Given the description of an element on the screen output the (x, y) to click on. 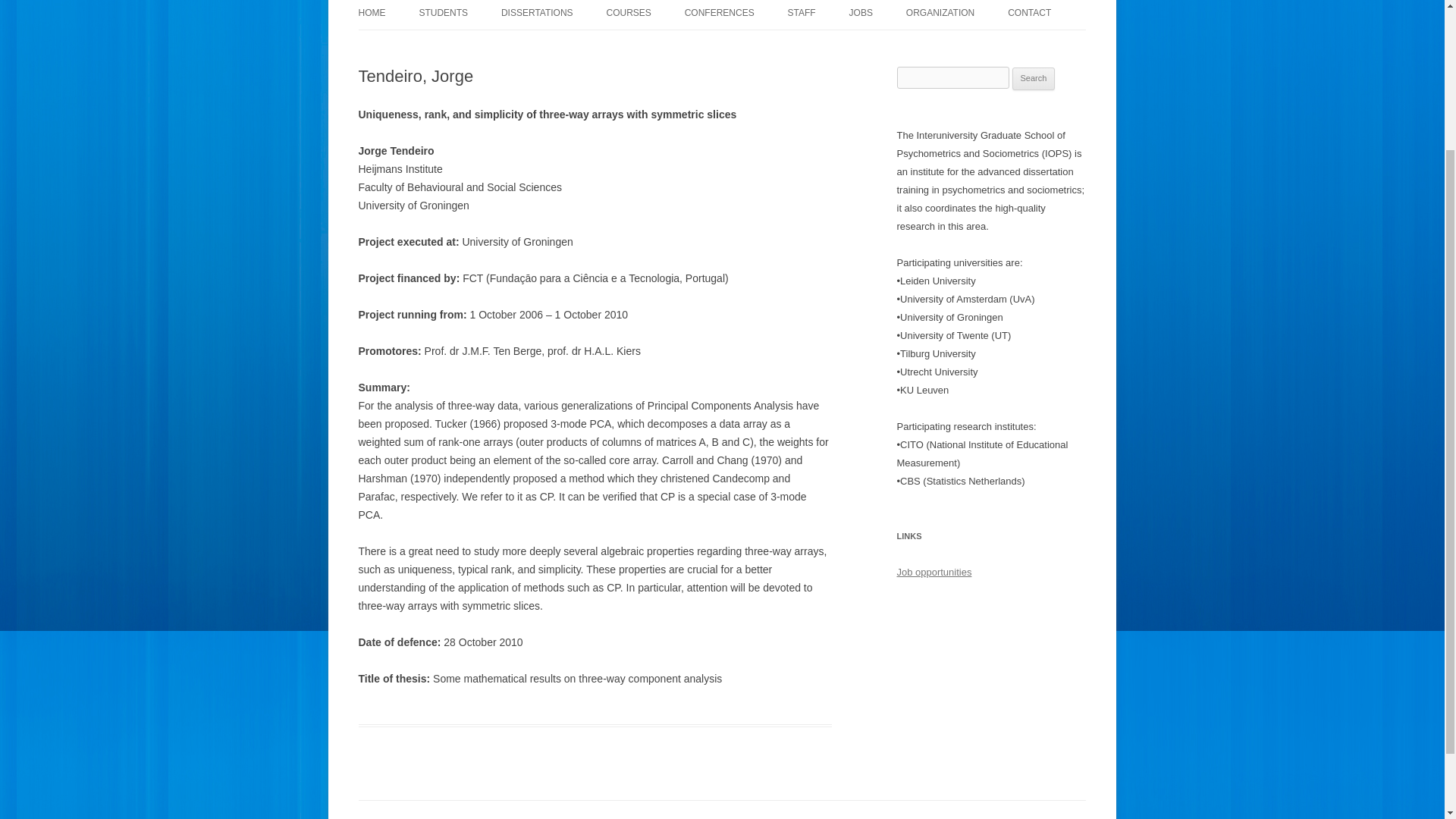
CONTACT (1029, 14)
HOME (371, 14)
UPCOMING IOPS CONFERENCES (759, 44)
Job opportunities (933, 572)
IOPS BOARD (981, 44)
CURRENT STAFF (863, 44)
COURSES (627, 14)
Search (1033, 78)
DISSERTATIONS (536, 14)
CONFERENCES (719, 14)
